Given the description of an element on the screen output the (x, y) to click on. 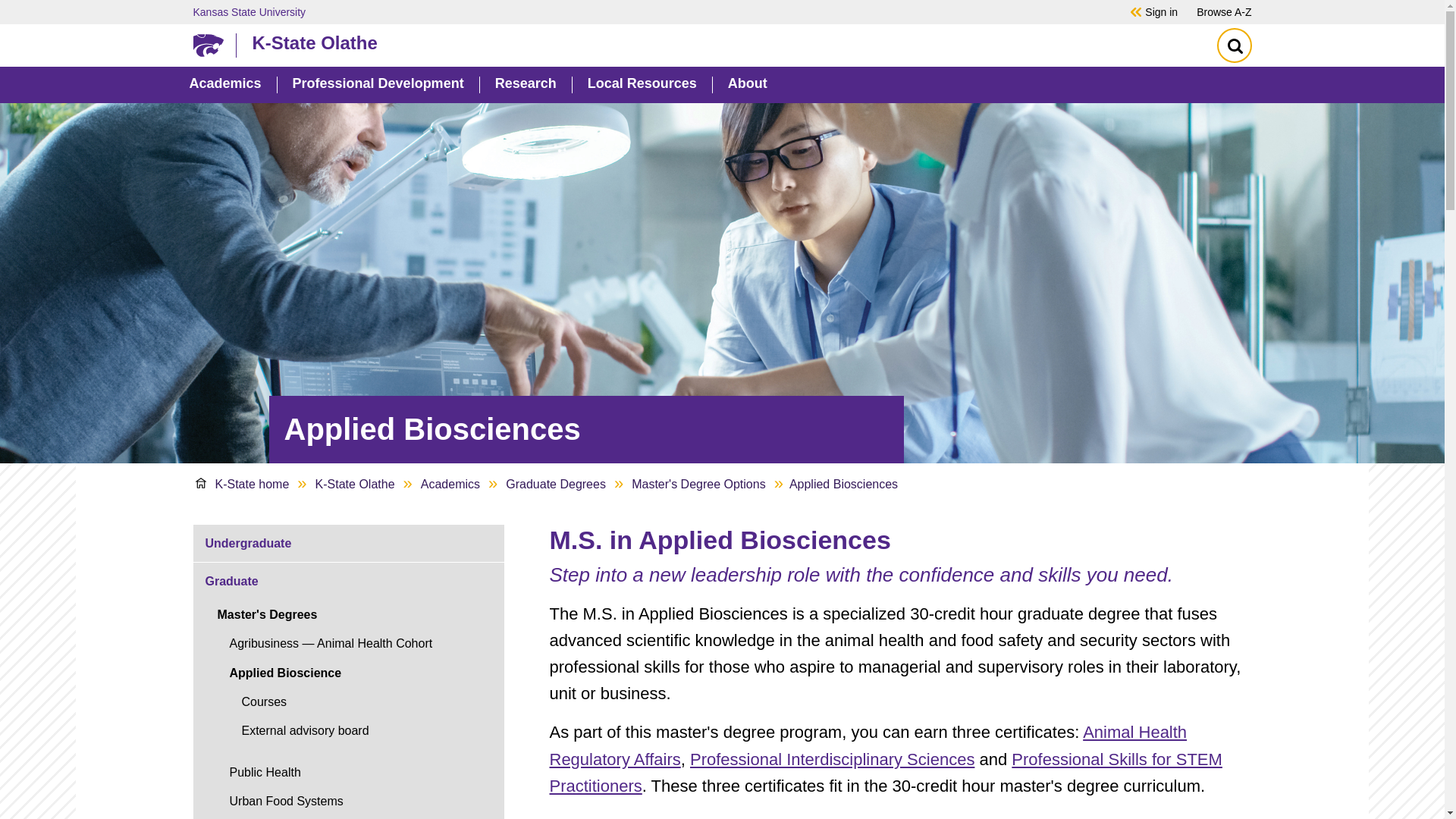
K-State Olathe (718, 43)
Sign in (1160, 11)
Kansas State University (639, 11)
Professional Development (378, 84)
Academics (225, 84)
Research (525, 84)
Browse A-Z (1223, 11)
